Given the description of an element on the screen output the (x, y) to click on. 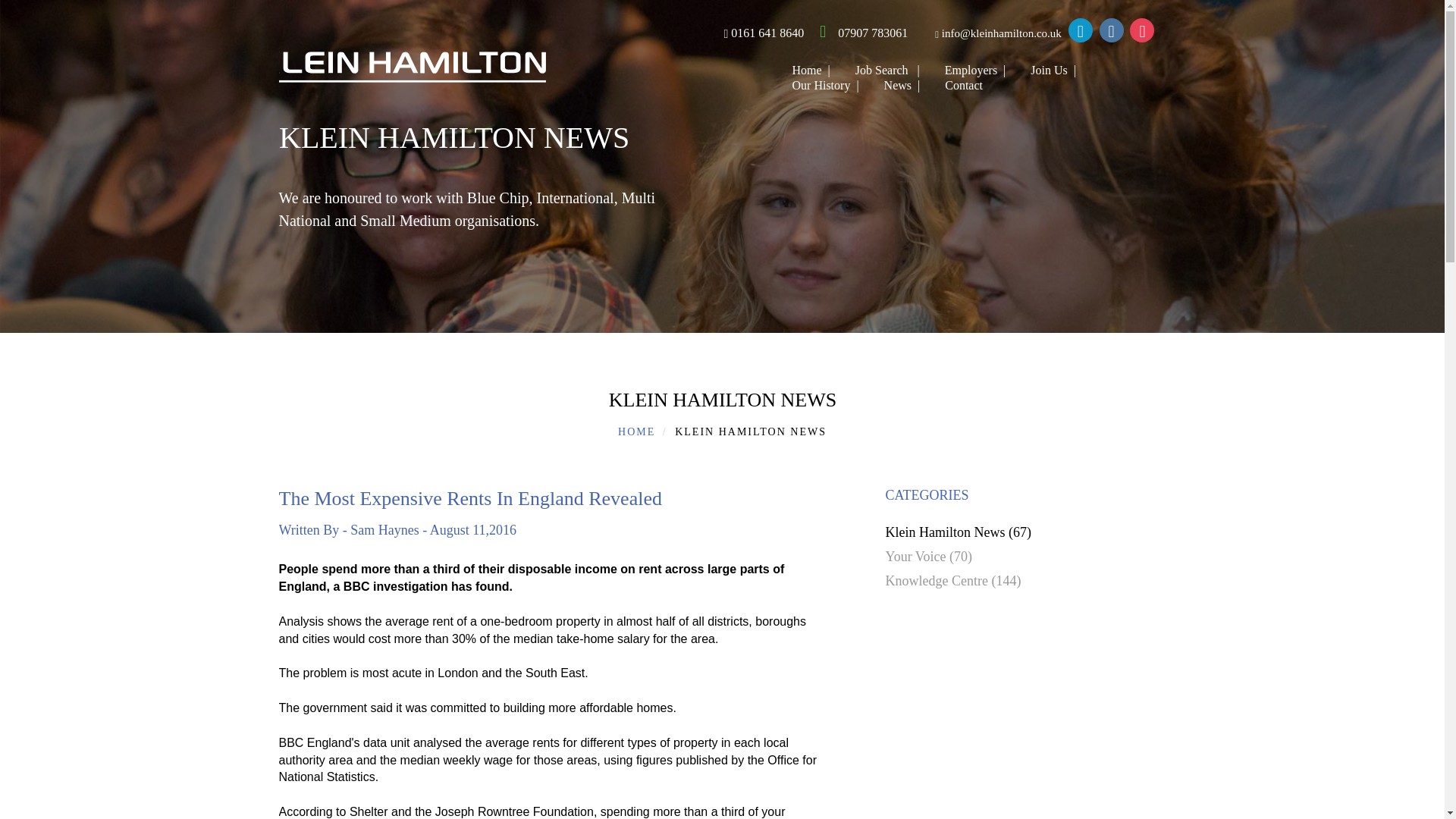
0161 641 8640 (753, 32)
Contact (954, 85)
Our History (818, 85)
HOME (636, 431)
News (895, 85)
07907 783061 (858, 32)
